Given the description of an element on the screen output the (x, y) to click on. 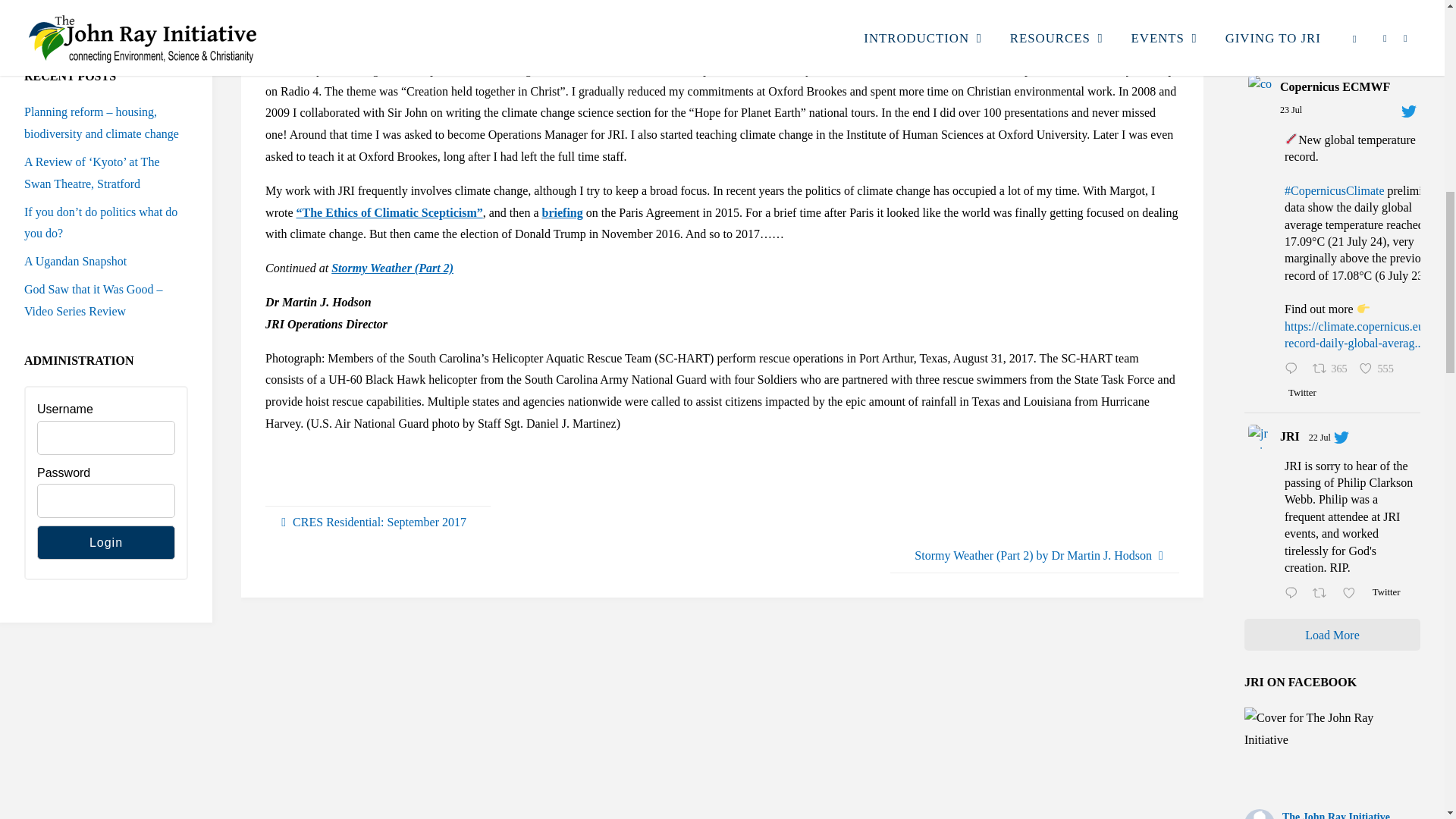
Please enter username (105, 437)
Login (105, 542)
Webinar: Dr Adrian Howkins (120, 2)
View more events. (58, 30)
